Given the description of an element on the screen output the (x, y) to click on. 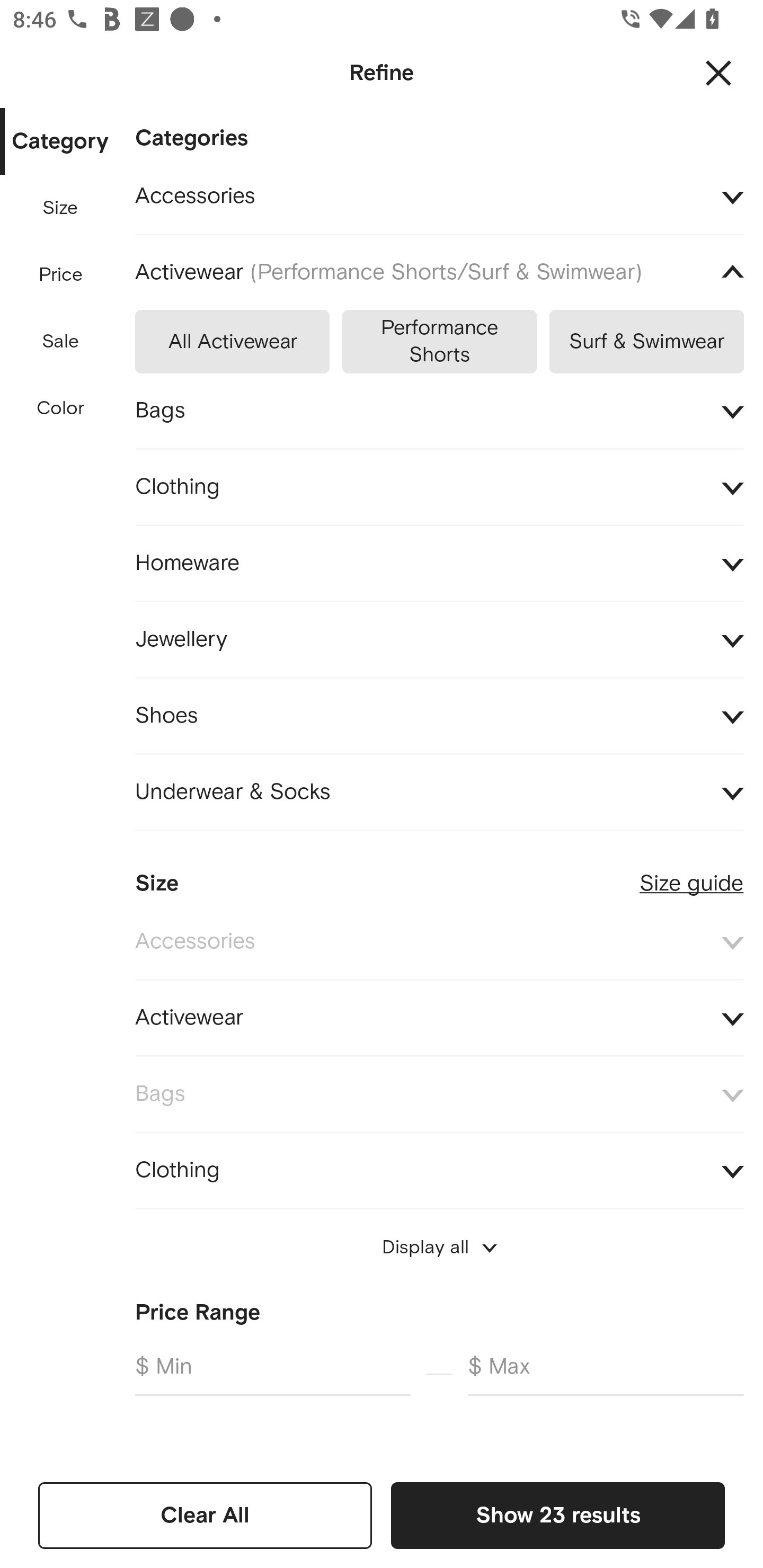
Category (60, 141)
Accessories (439, 196)
Size (60, 208)
Activewear (Performance Shorts/Surf & Swimwear) (439, 272)
Price (60, 274)
All Activewear (232, 338)
Performance Shorts (439, 338)
Surf & Swimwear (646, 338)
Sale (60, 342)
Color (60, 408)
Bags (439, 410)
Clothing (439, 486)
Homeware (439, 563)
Jewellery (439, 639)
Shoes (439, 715)
Underwear & Socks (439, 792)
Size guide (691, 875)
Accessories (439, 941)
Activewear (439, 1018)
Bags (439, 1094)
Clothing (439, 1170)
Display all (439, 1246)
$ Min (272, 1373)
$ Max (605, 1373)
Clear All (205, 1515)
Show 23 results (557, 1515)
